Given the description of an element on the screen output the (x, y) to click on. 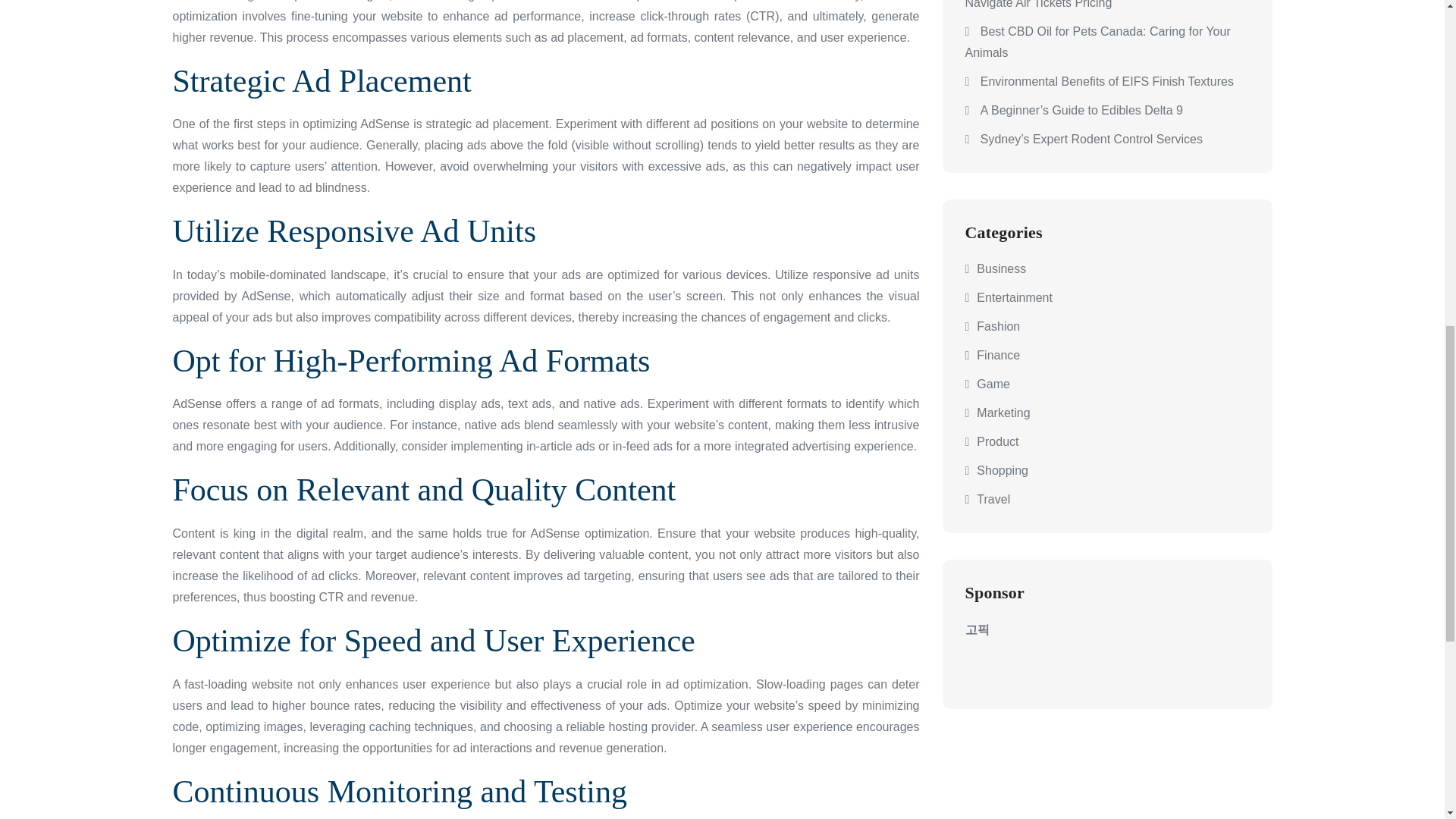
Environmental Benefits of EIFS Finish Textures (1106, 81)
Fashion (998, 326)
Marketing (1002, 412)
Shopping (1001, 470)
Finance (998, 354)
Product (996, 440)
Best CBD Oil for Pets Canada: Caring for Your Animals (1096, 41)
Entertainment (1014, 297)
Game (993, 383)
Business (1001, 268)
Travel (993, 499)
